Given the description of an element on the screen output the (x, y) to click on. 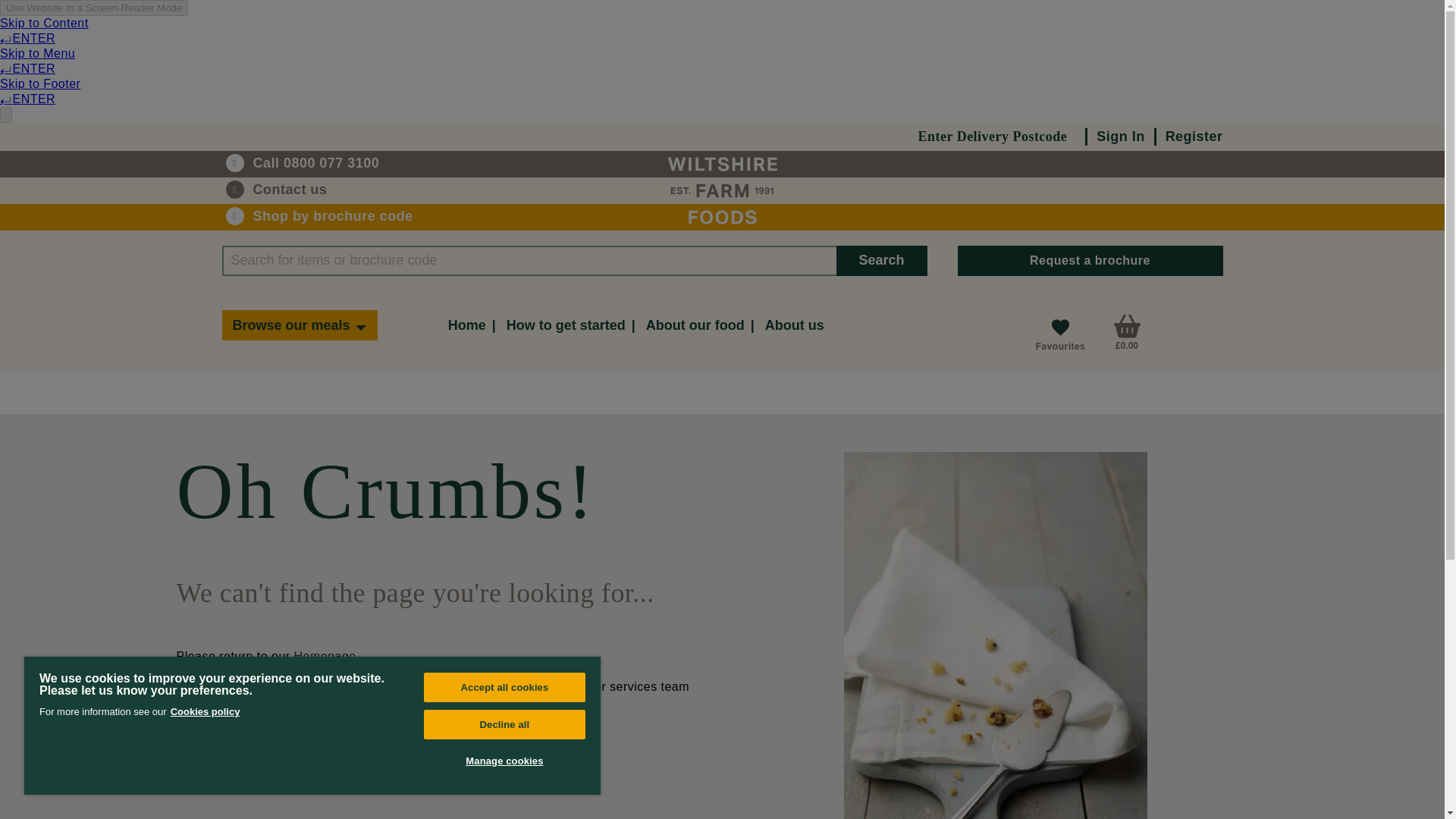
Contact us (319, 190)
Call 0800 077 3100 (319, 162)
0800 077 3100 (319, 162)
Register (1194, 136)
Shop by brochure code (319, 216)
Request a brochure (1089, 260)
Search (880, 260)
Shop by brochure code (319, 216)
Contact us (319, 190)
Sign In (1120, 136)
Sign In (1120, 136)
Sign In (1120, 136)
